Given the description of an element on the screen output the (x, y) to click on. 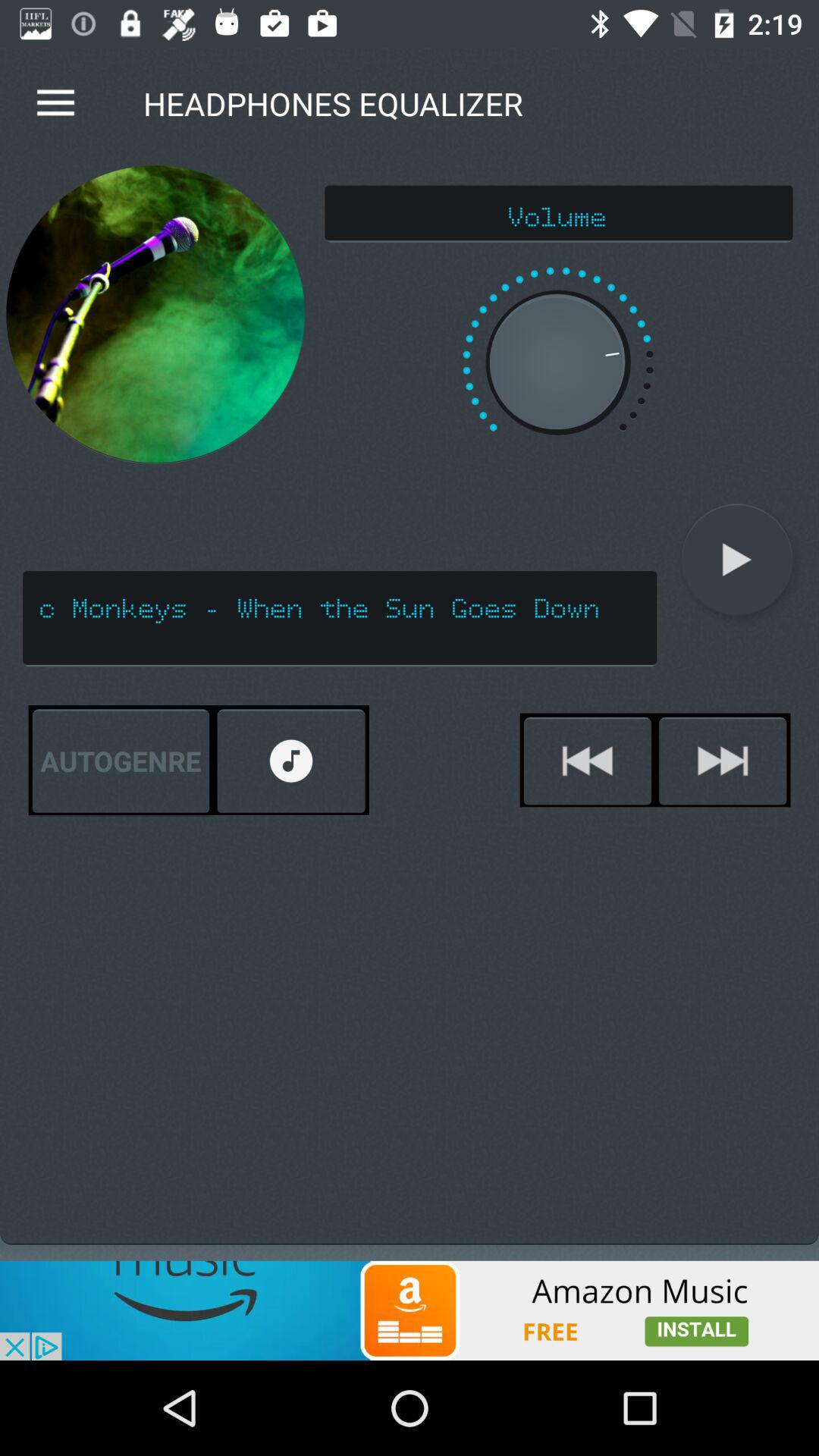
turn off item below arctic monkeys when (722, 760)
